Given the description of an element on the screen output the (x, y) to click on. 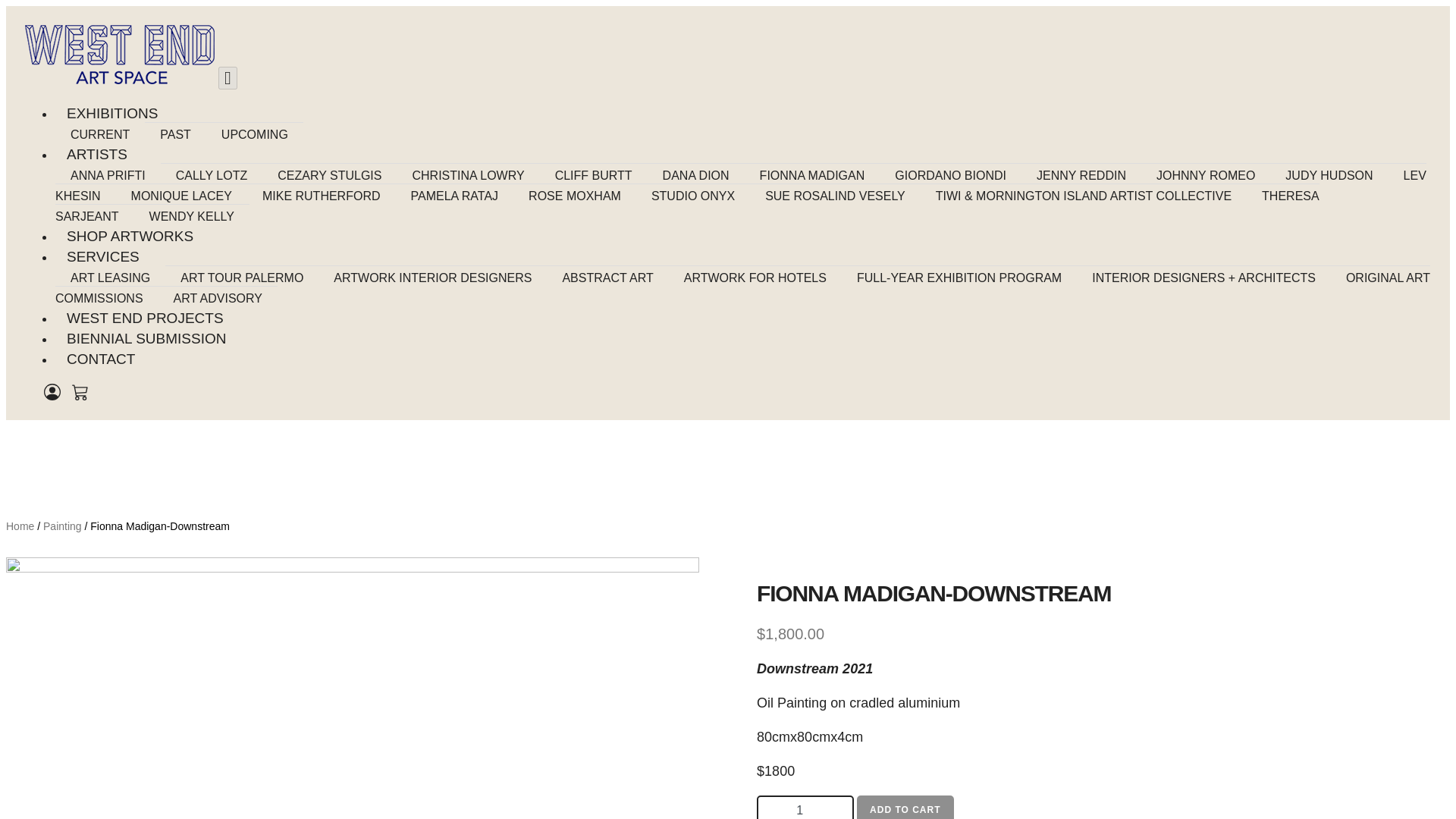
PAMELA RATAJ (454, 195)
SHOP ARTWORKS (130, 236)
FULL-YEAR EXHIBITION PROGRAM (959, 277)
SUE ROSALIND VESELY (834, 195)
THERESA SARJEANT (687, 205)
1 (805, 807)
ARTWORK INTERIOR DESIGNERS (432, 277)
CLIFF BURTT (593, 174)
ARTWORK FOR HOTELS (754, 277)
ROSE MOXHAM (574, 195)
